Given the description of an element on the screen output the (x, y) to click on. 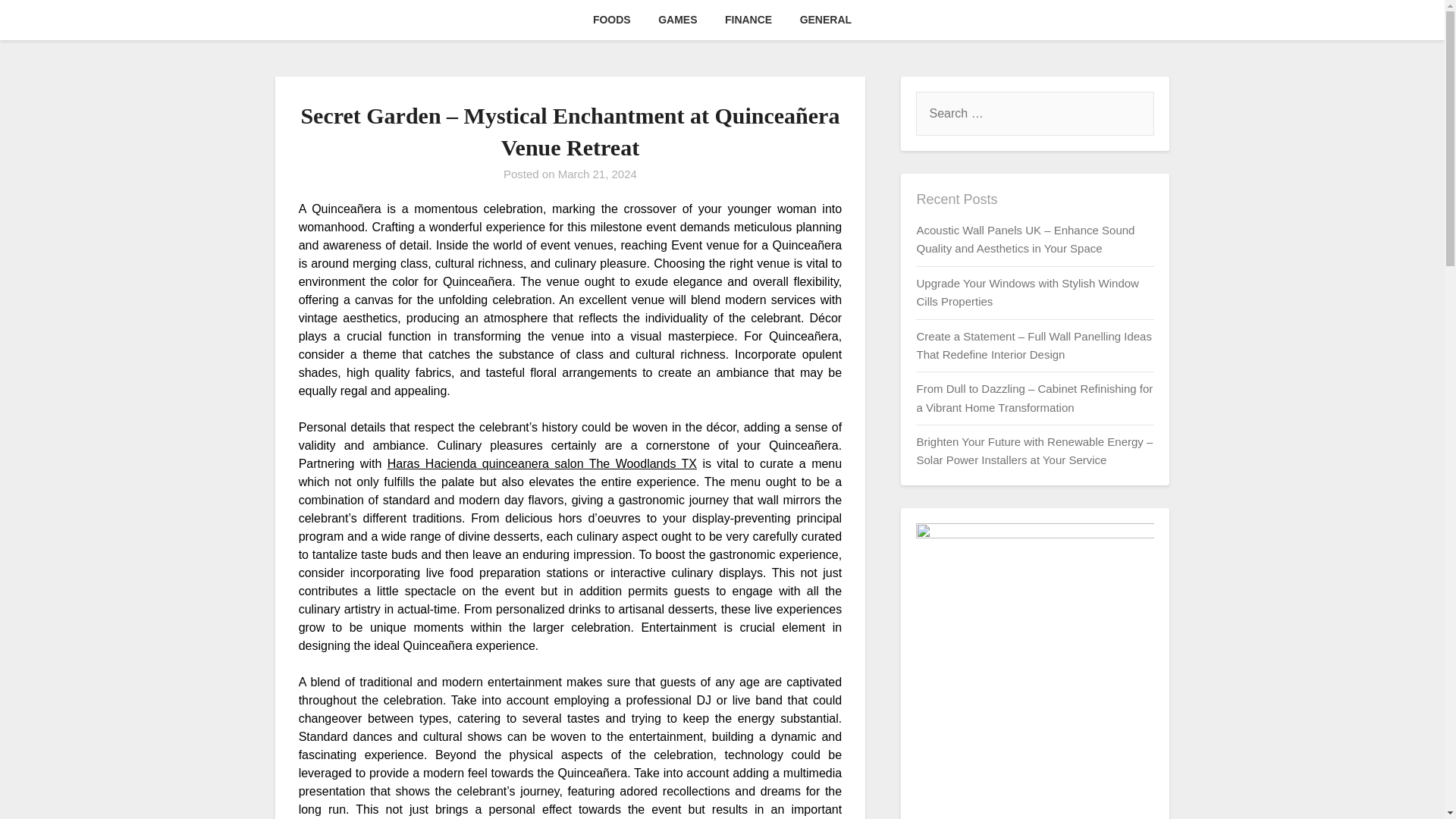
FINANCE (748, 20)
FOODS (611, 20)
Haras Hacienda quinceanera salon The Woodlands TX (542, 463)
March 21, 2024 (597, 173)
Upgrade Your Windows with Stylish Window Cills Properties (1026, 291)
GENERAL (825, 20)
GAMES (677, 20)
Search (37, 22)
